Given the description of an element on the screen output the (x, y) to click on. 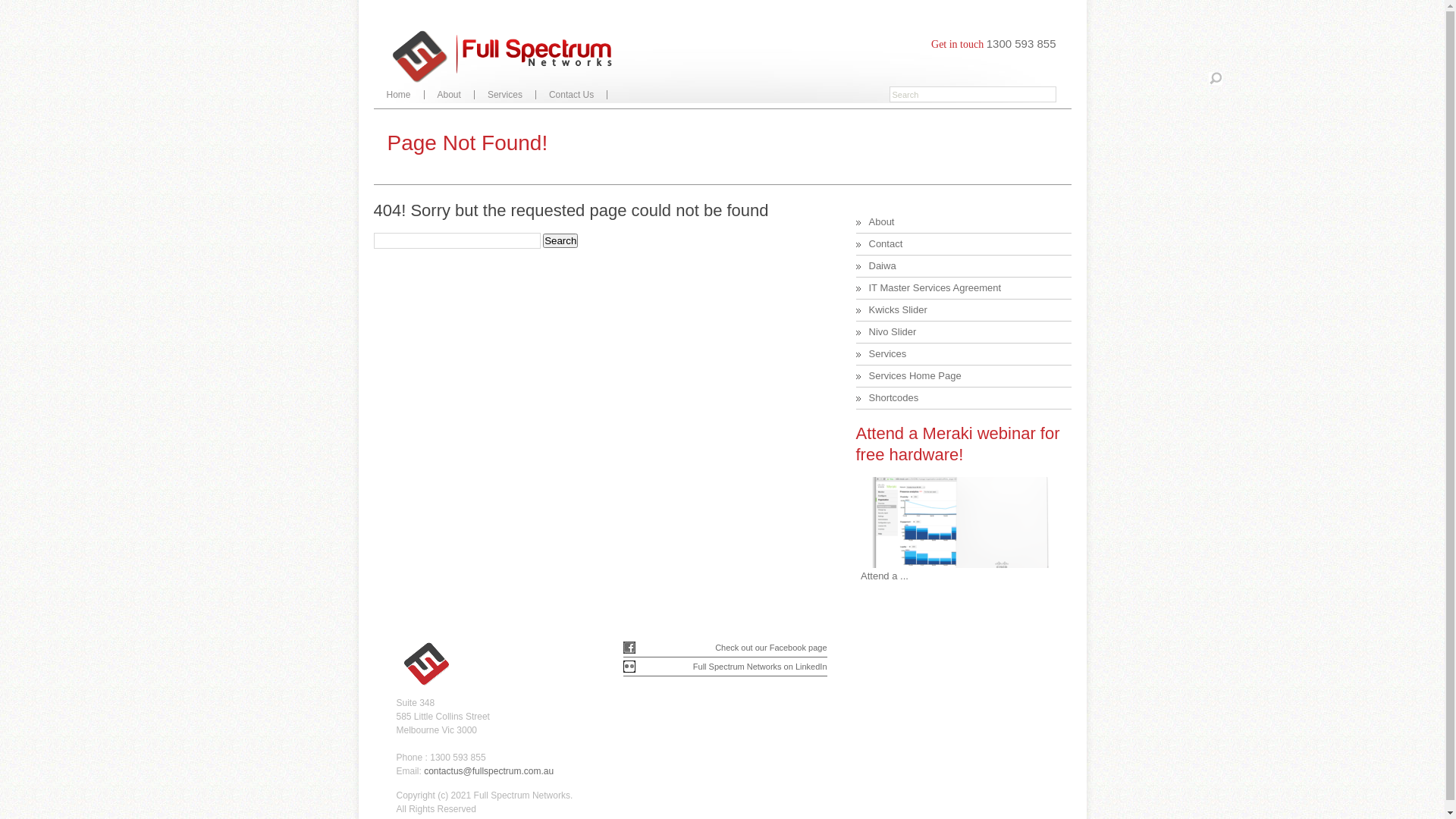
Shortcodes Element type: text (894, 397)
Nivo Slider Element type: text (892, 331)
Full Spectrum Networks on LinkedIn Element type: text (760, 666)
Daiwa Element type: text (882, 265)
Services Element type: text (887, 353)
About Element type: text (881, 221)
Check out our Facebook page Element type: text (770, 647)
IT Master Services Agreement Element type: text (935, 287)
Contact Element type: text (886, 243)
Kwicks Slider Element type: text (898, 309)
Attend a Meraki webinar for free hardware! Element type: text (957, 443)
contactus@fullspectrum.com.au Element type: text (488, 770)
About Element type: text (449, 94)
Search Element type: text (559, 240)
Services Home Page Element type: text (915, 375)
Contact Us Element type: text (571, 94)
Services Element type: text (505, 94)
Home Element type: text (398, 94)
